Given the description of an element on the screen output the (x, y) to click on. 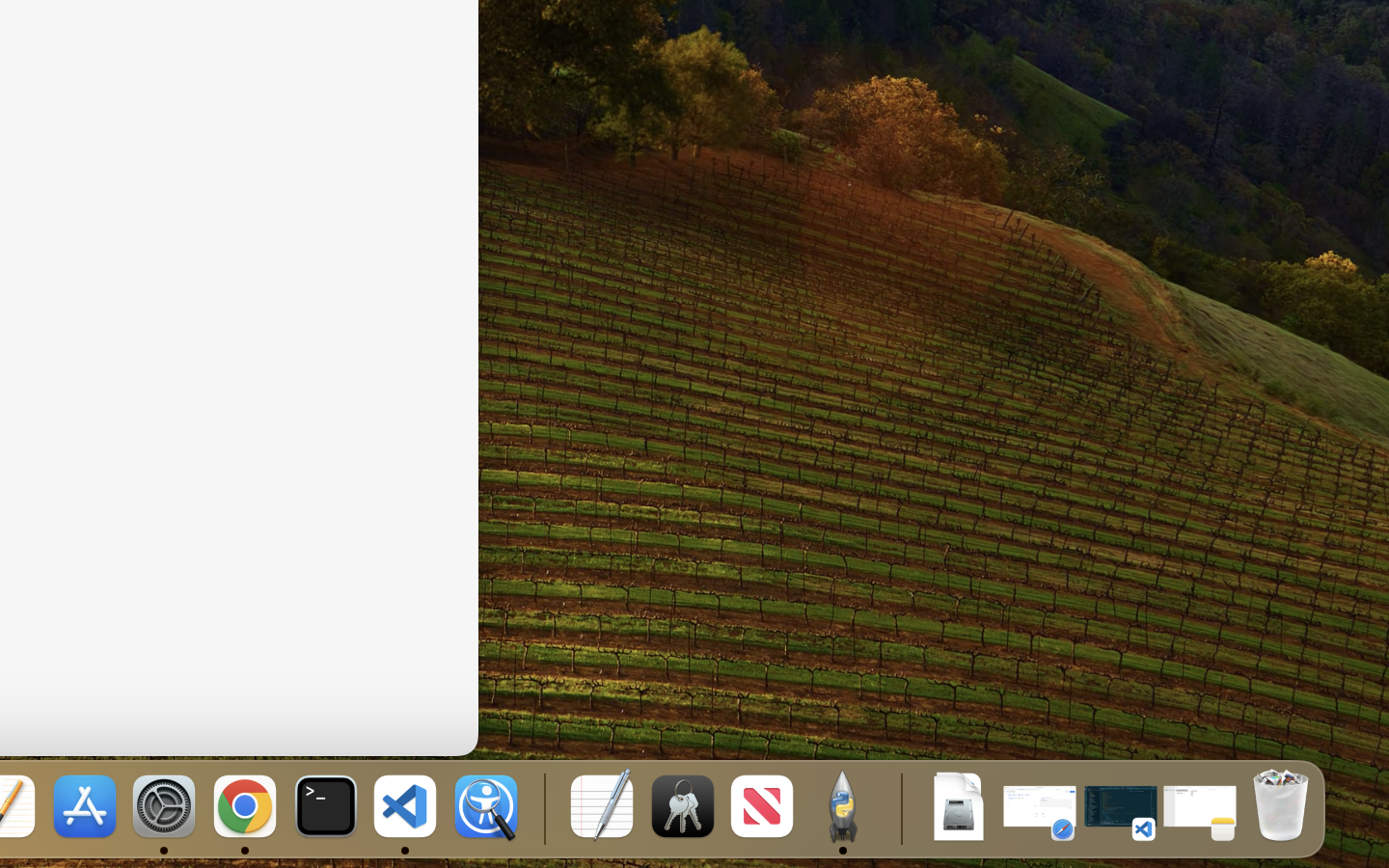
0.4285714328289032 Element type: AXDockItem (541, 807)
